Given the description of an element on the screen output the (x, y) to click on. 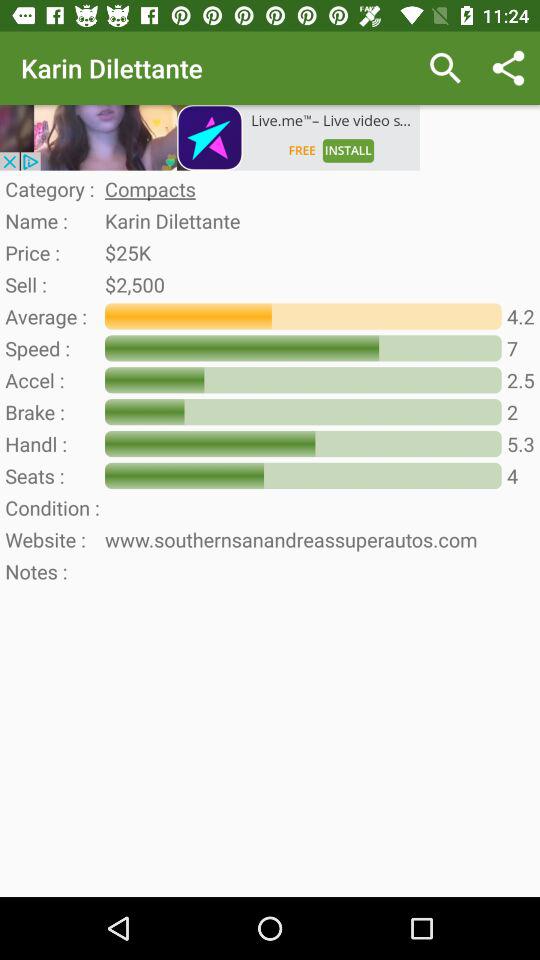
add page (210, 137)
